Given the description of an element on the screen output the (x, y) to click on. 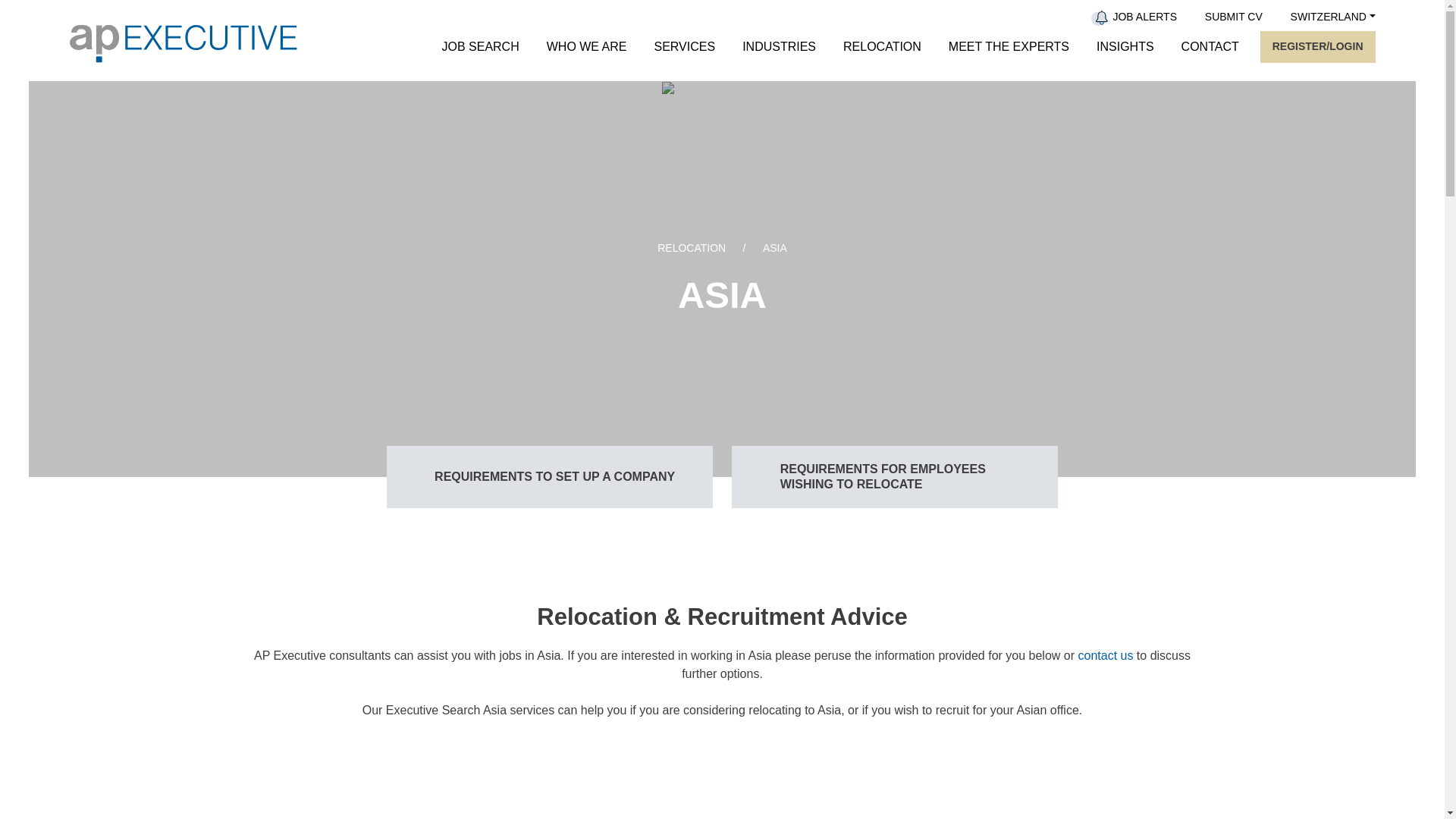
SUBMIT CV (1233, 17)
SWITZERLAND (1332, 17)
JOB ALERTS (1144, 17)
